Given the description of an element on the screen output the (x, y) to click on. 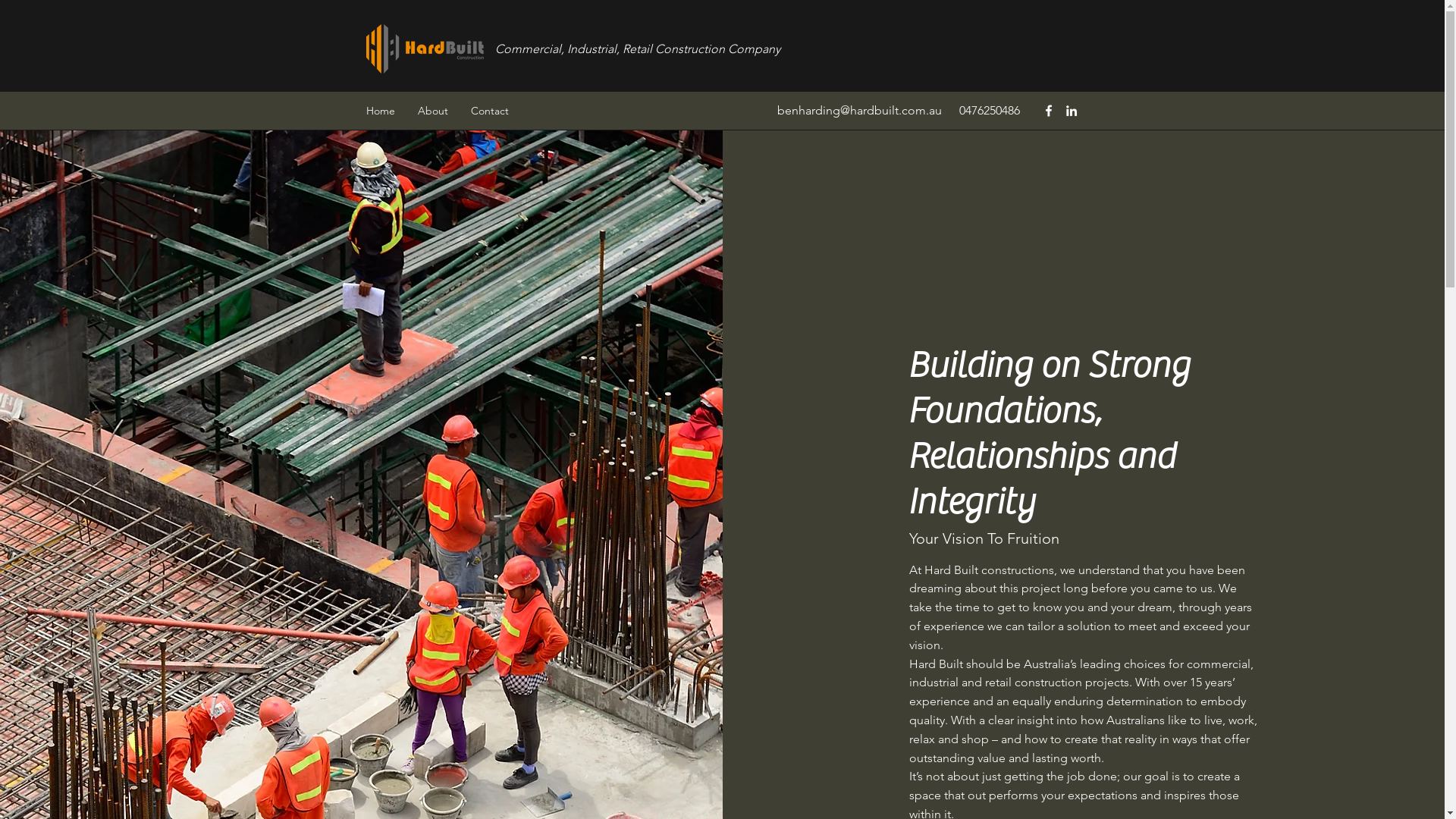
About Element type: text (432, 110)
benharding@hardbuilt.com.au Element type: text (858, 110)
Home Element type: text (380, 110)
Contact Element type: text (489, 110)
